Given the description of an element on the screen output the (x, y) to click on. 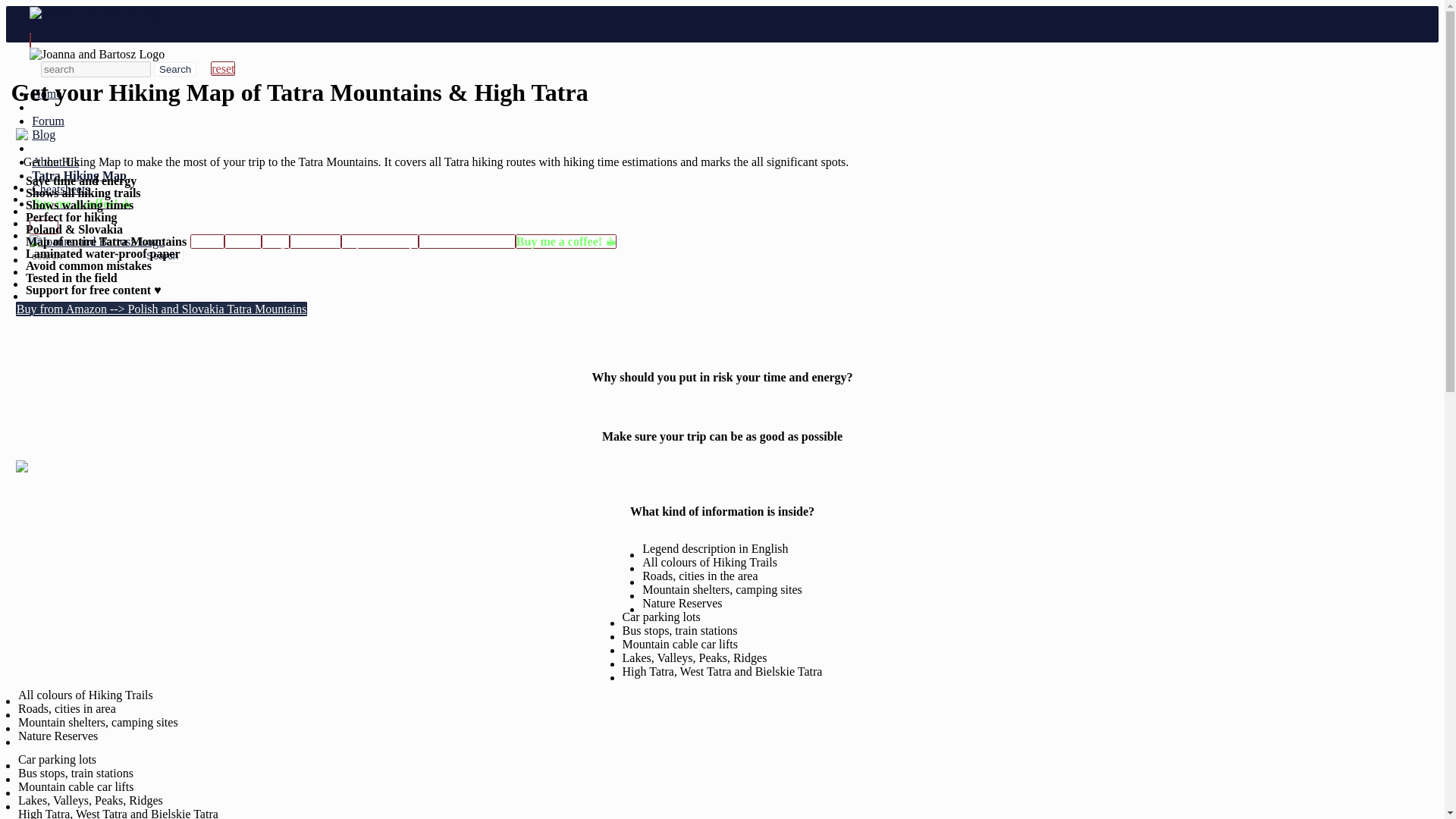
About Us (314, 241)
Home (46, 92)
Blog (43, 133)
Forum (48, 120)
Cheatsheets (60, 188)
reset (222, 68)
Close (43, 227)
Tatra Hiking Map (79, 174)
Search (162, 255)
Home (207, 241)
Buy Tatra Map (379, 241)
Search (175, 69)
About Us (55, 161)
Blog (275, 241)
Travel Cheatsheets (467, 241)
